Given the description of an element on the screen output the (x, y) to click on. 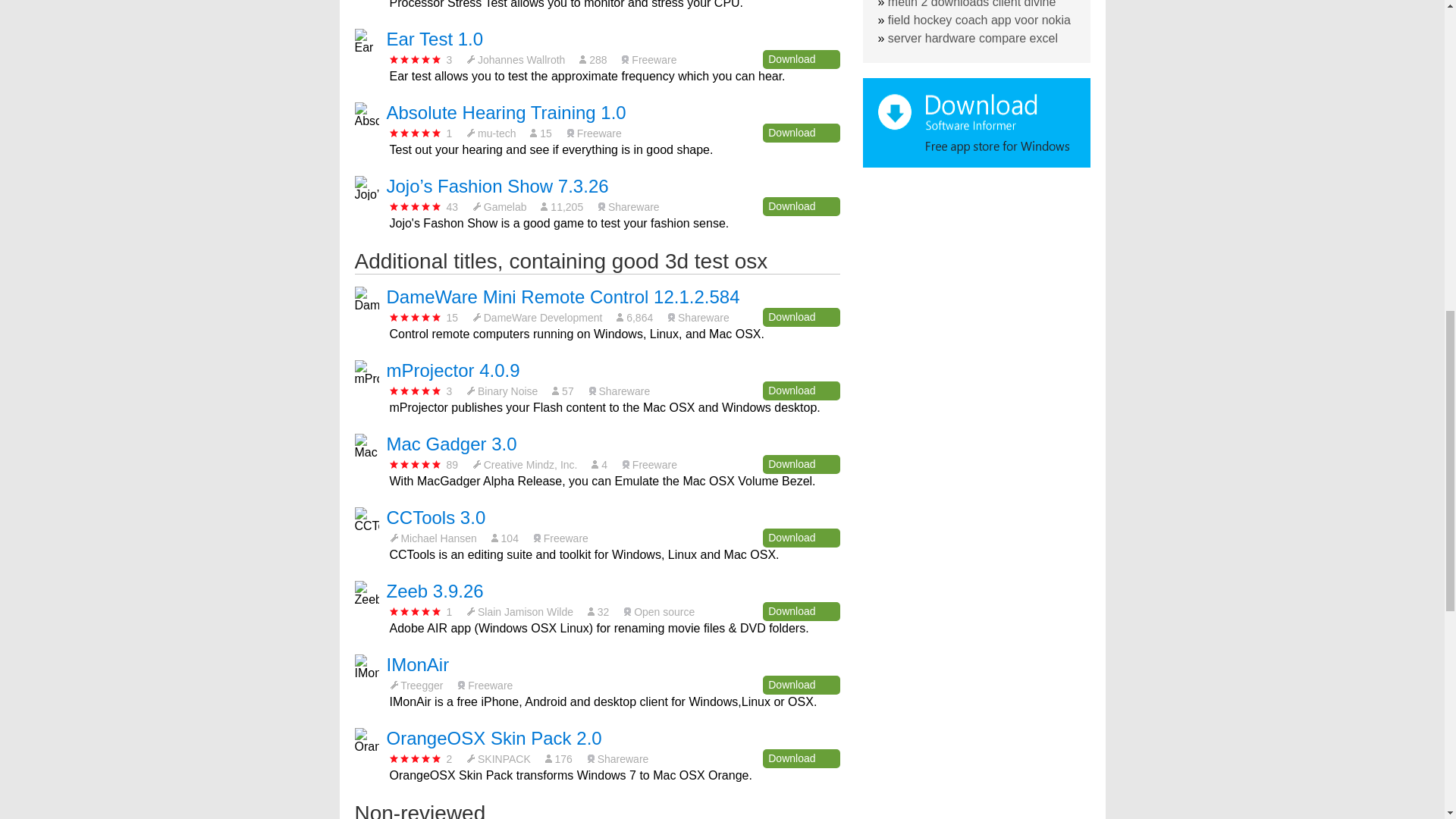
Download (801, 316)
mProjector 4.0.9 (453, 370)
Download (801, 464)
Download (801, 206)
Ear Test 1.0 (435, 38)
5 (415, 132)
3 (415, 59)
Absolute Hearing Training 1.0 (506, 112)
Download (801, 610)
DameWare Mini Remote Control 12.1.2.584 (563, 296)
4.3 (415, 206)
3.3 (415, 390)
Download (801, 537)
Download (801, 132)
Absolute Hearing Training 1.0 (506, 112)
